Given the description of an element on the screen output the (x, y) to click on. 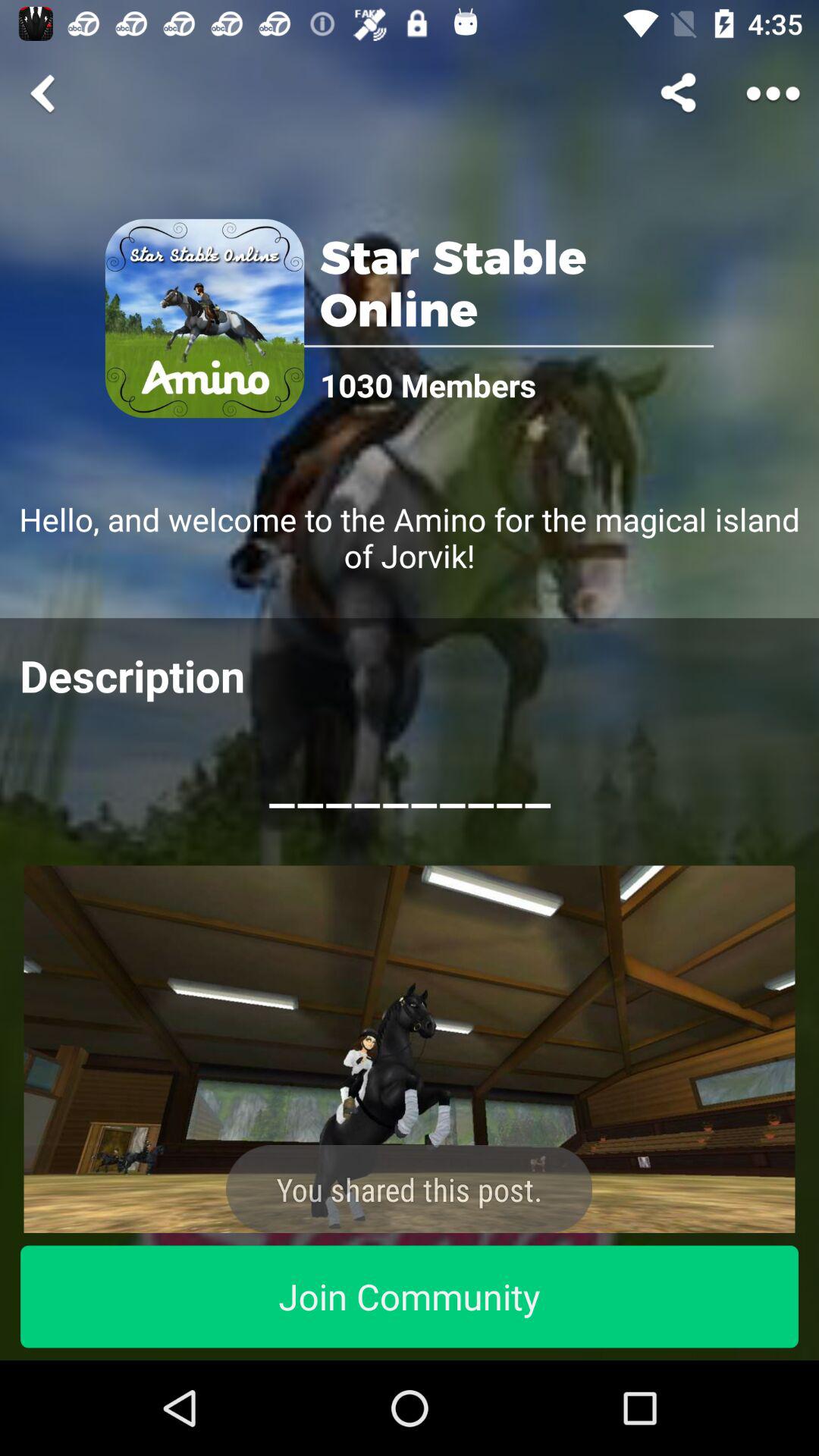
go back (45, 93)
